Given the description of an element on the screen output the (x, y) to click on. 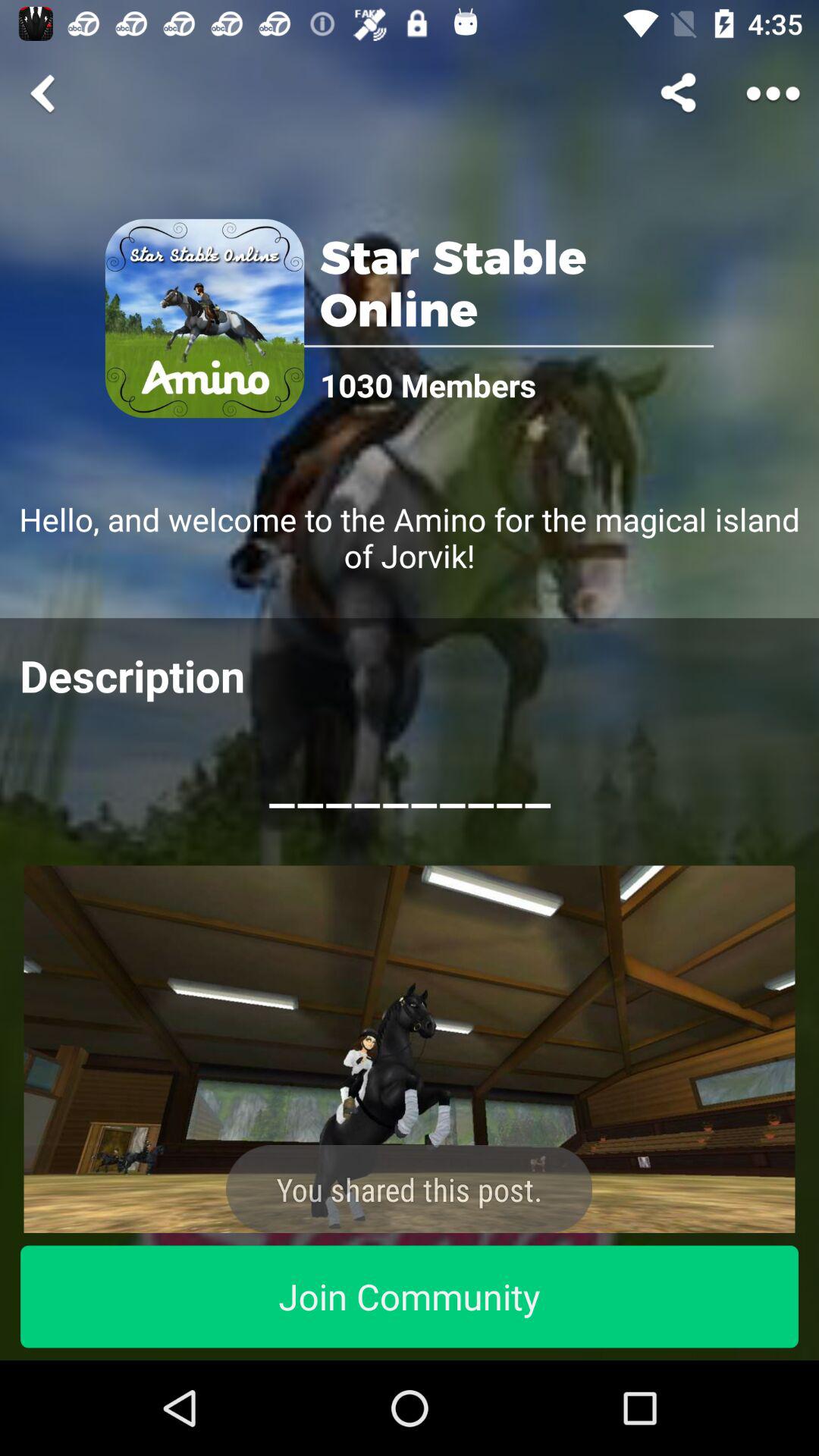
go back (45, 93)
